Given the description of an element on the screen output the (x, y) to click on. 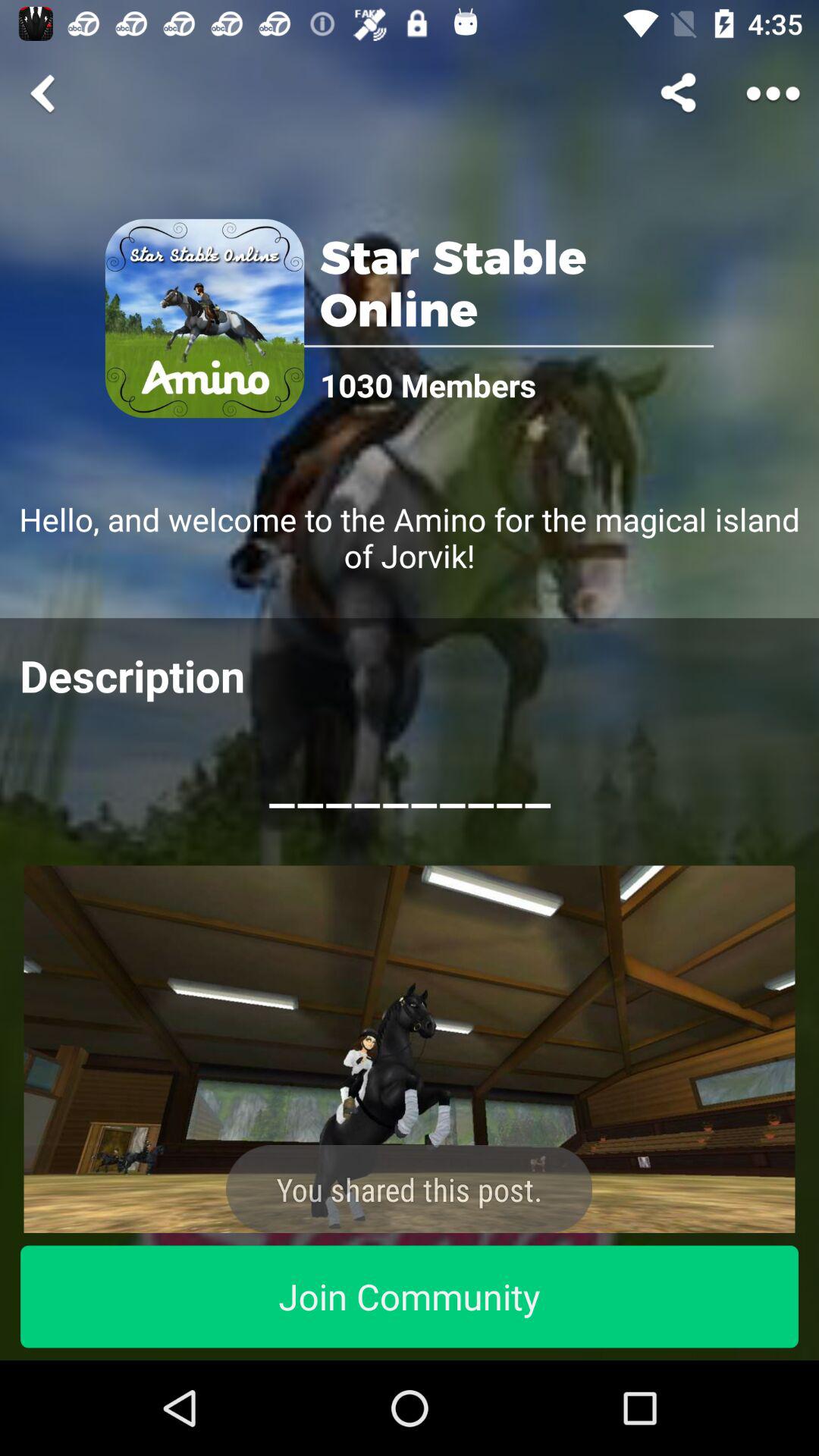
go back (45, 93)
